Given the description of an element on the screen output the (x, y) to click on. 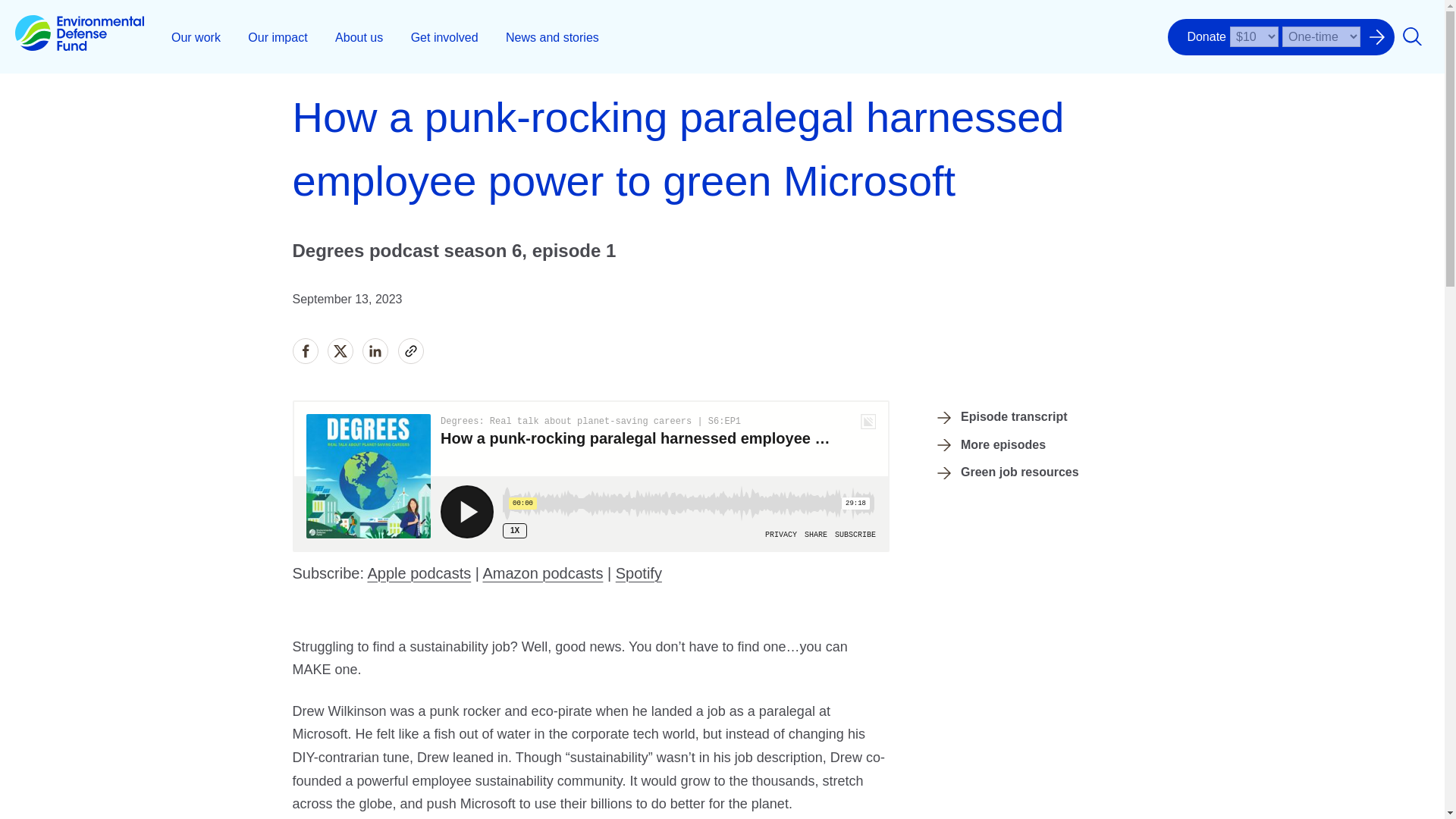
About us (358, 36)
Magnifying Glass (1412, 36)
Get involved (444, 36)
Our work (195, 36)
Home (79, 36)
Magnifying Glass (1411, 36)
Our impact (276, 36)
News and stories (552, 36)
Environmental Defense Fund (79, 36)
